Given the description of an element on the screen output the (x, y) to click on. 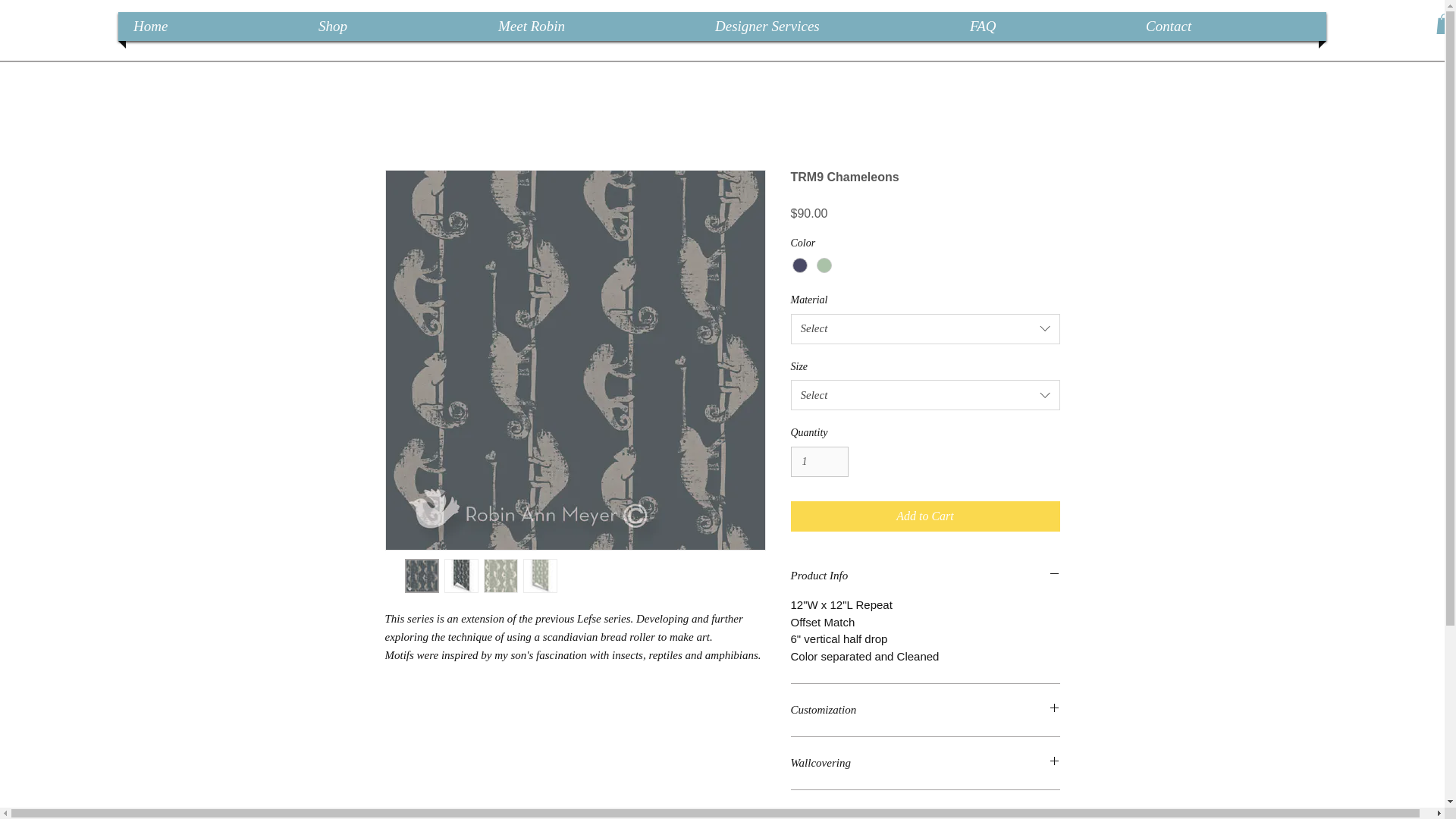
Select (924, 395)
Shop (393, 26)
1 (818, 461)
Home (210, 26)
Fabric (924, 813)
FAQ (1042, 26)
Wallcovering (924, 763)
Add to Cart (924, 516)
Product Info (924, 575)
Contact (1228, 26)
Customization (924, 709)
Designer Services (826, 26)
Select (924, 328)
